Given the description of an element on the screen output the (x, y) to click on. 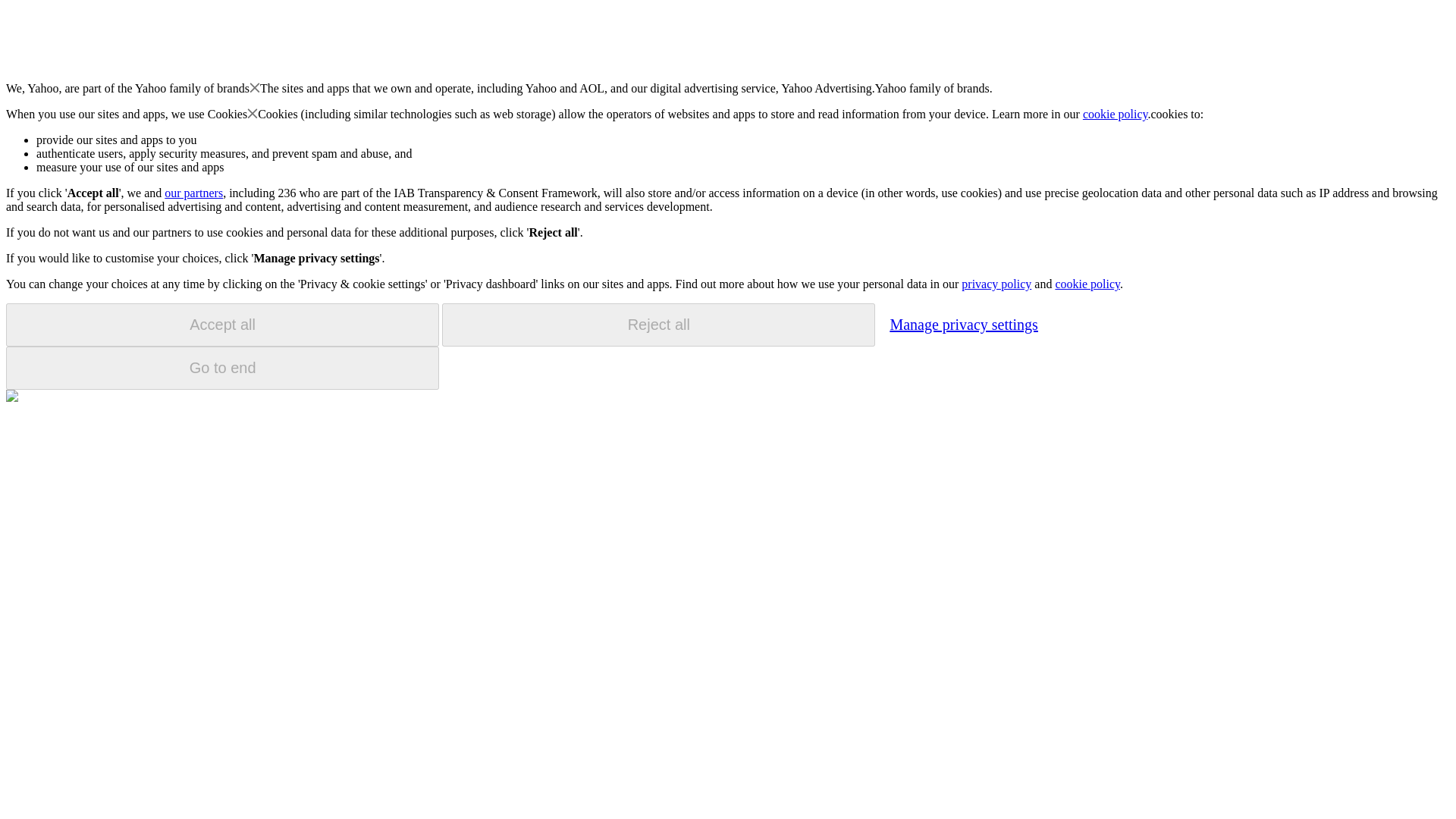
Accept all (222, 324)
cookie policy (1086, 283)
Reject all (658, 324)
Manage privacy settings (963, 323)
privacy policy (995, 283)
cookie policy (1115, 113)
our partners (193, 192)
Go to end (222, 367)
